Given the description of an element on the screen output the (x, y) to click on. 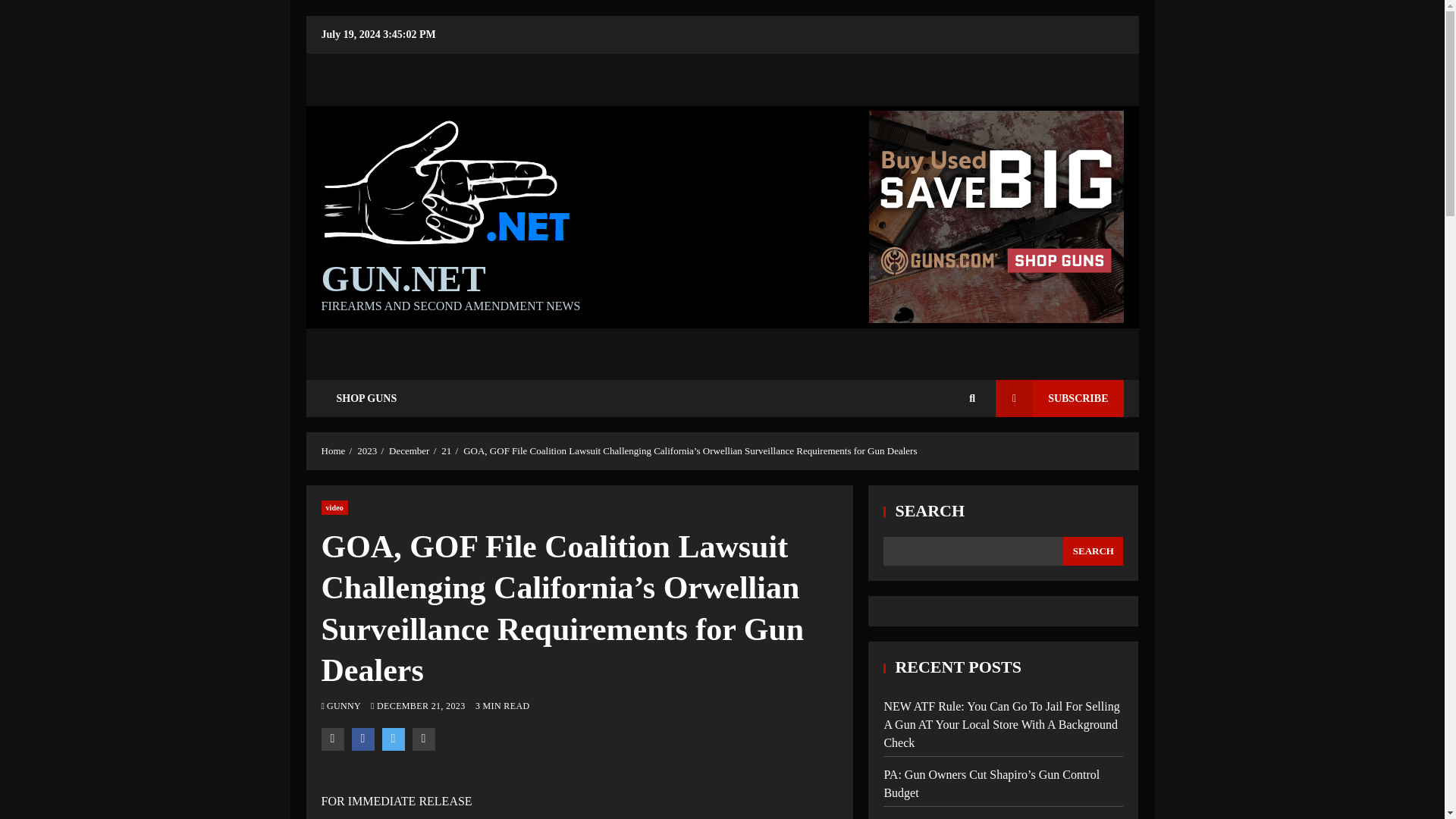
GUN.NET (403, 277)
Search (948, 443)
video (334, 507)
SEARCH (1092, 551)
2023 (366, 450)
Home (333, 450)
December (408, 450)
SHOP GUNS (366, 398)
SUBSCRIBE (1058, 398)
GUNNY (344, 706)
